Given the description of an element on the screen output the (x, y) to click on. 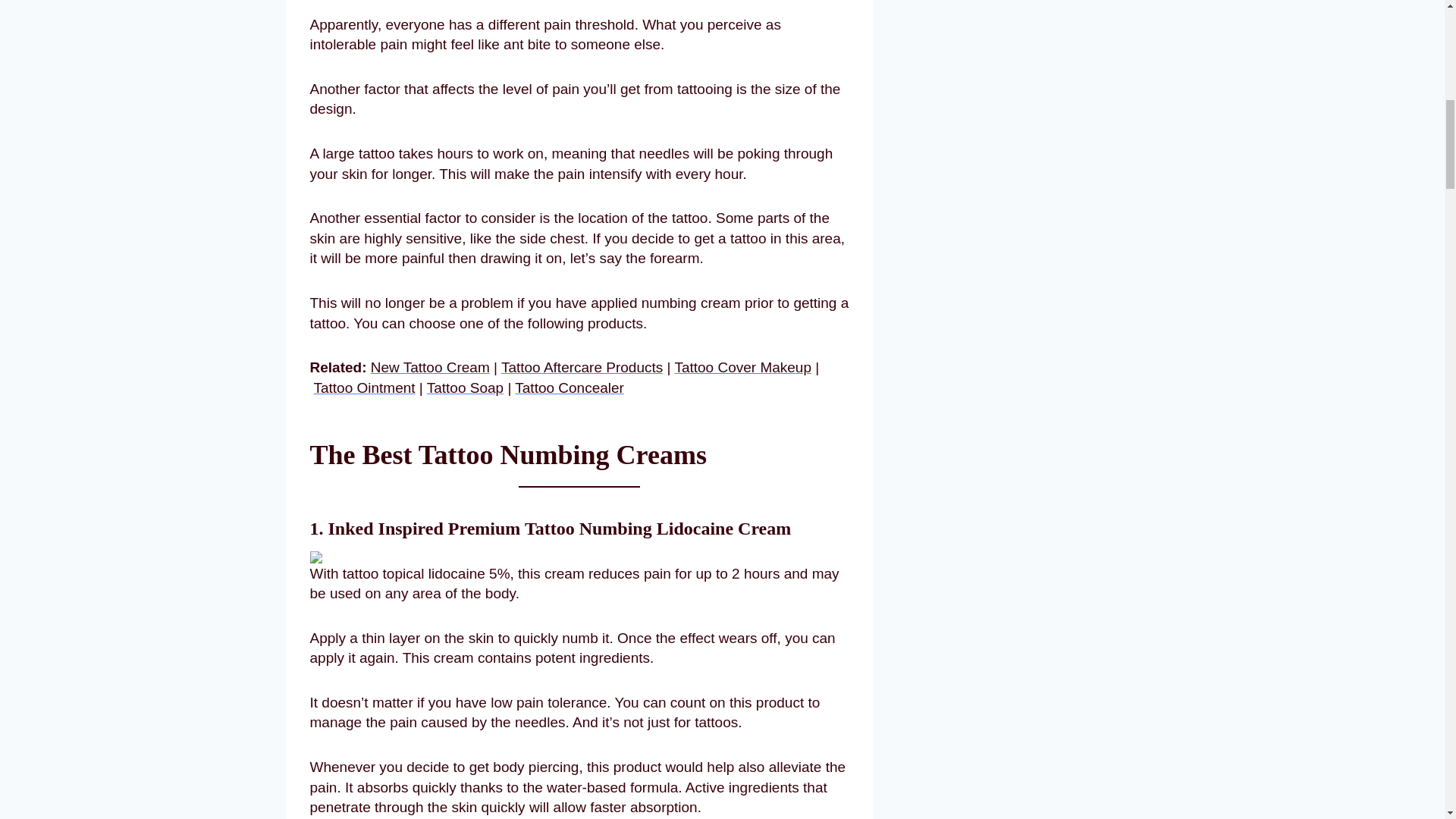
Tattoo Soap (464, 387)
New Tattoo Cream (430, 367)
Tattoo Aftercare Products (581, 367)
Inked Inspired Premium Tattoo Numbing Lidocaine Cream (558, 528)
Tattoo Concealer (569, 387)
Tattoo Cover Makeup (742, 367)
Tattoo Ointment (363, 387)
